Given the description of an element on the screen output the (x, y) to click on. 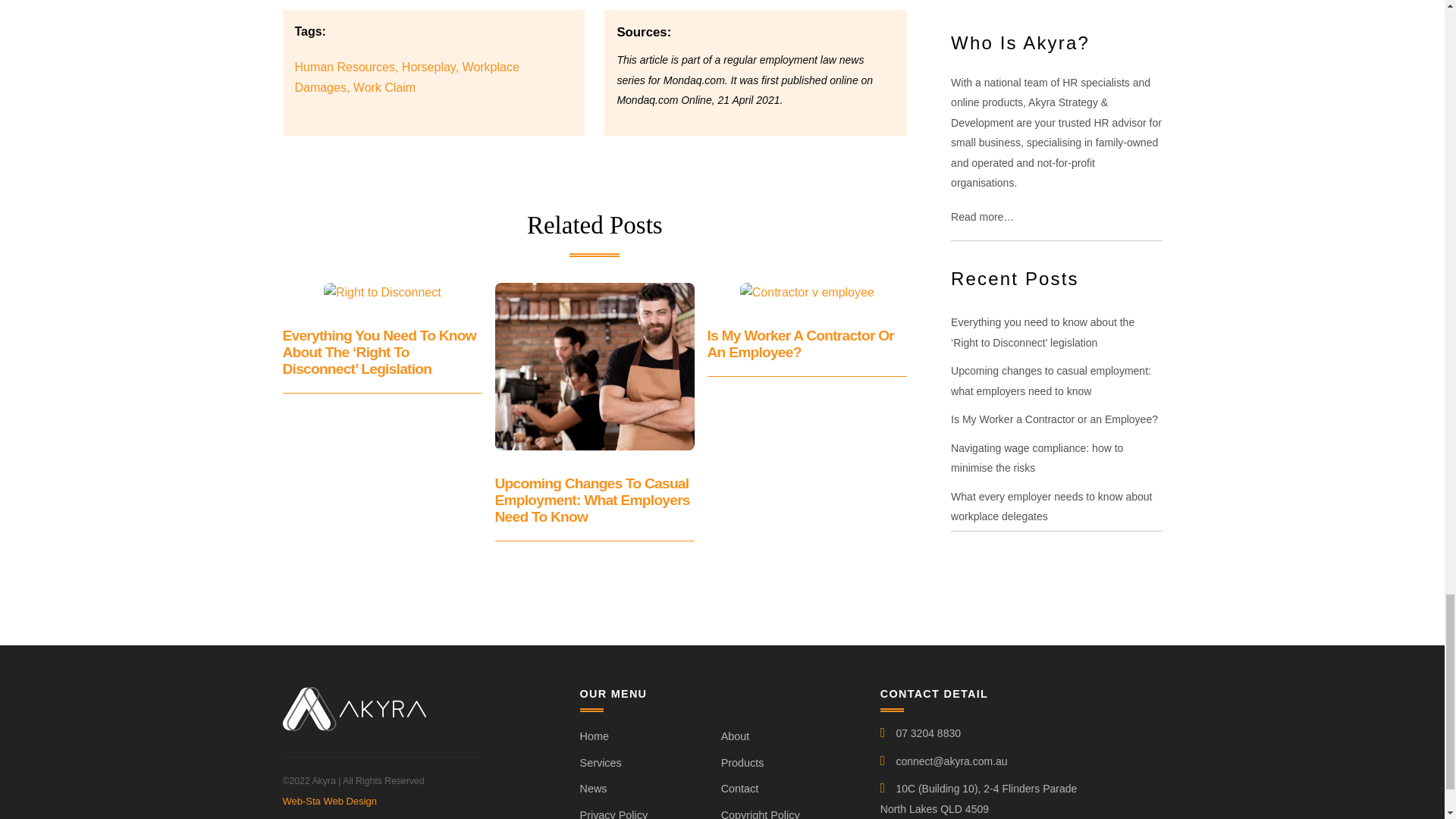
Right to Disconnect (382, 292)
Akyra (353, 724)
Contractor v employee (807, 292)
